Given the description of an element on the screen output the (x, y) to click on. 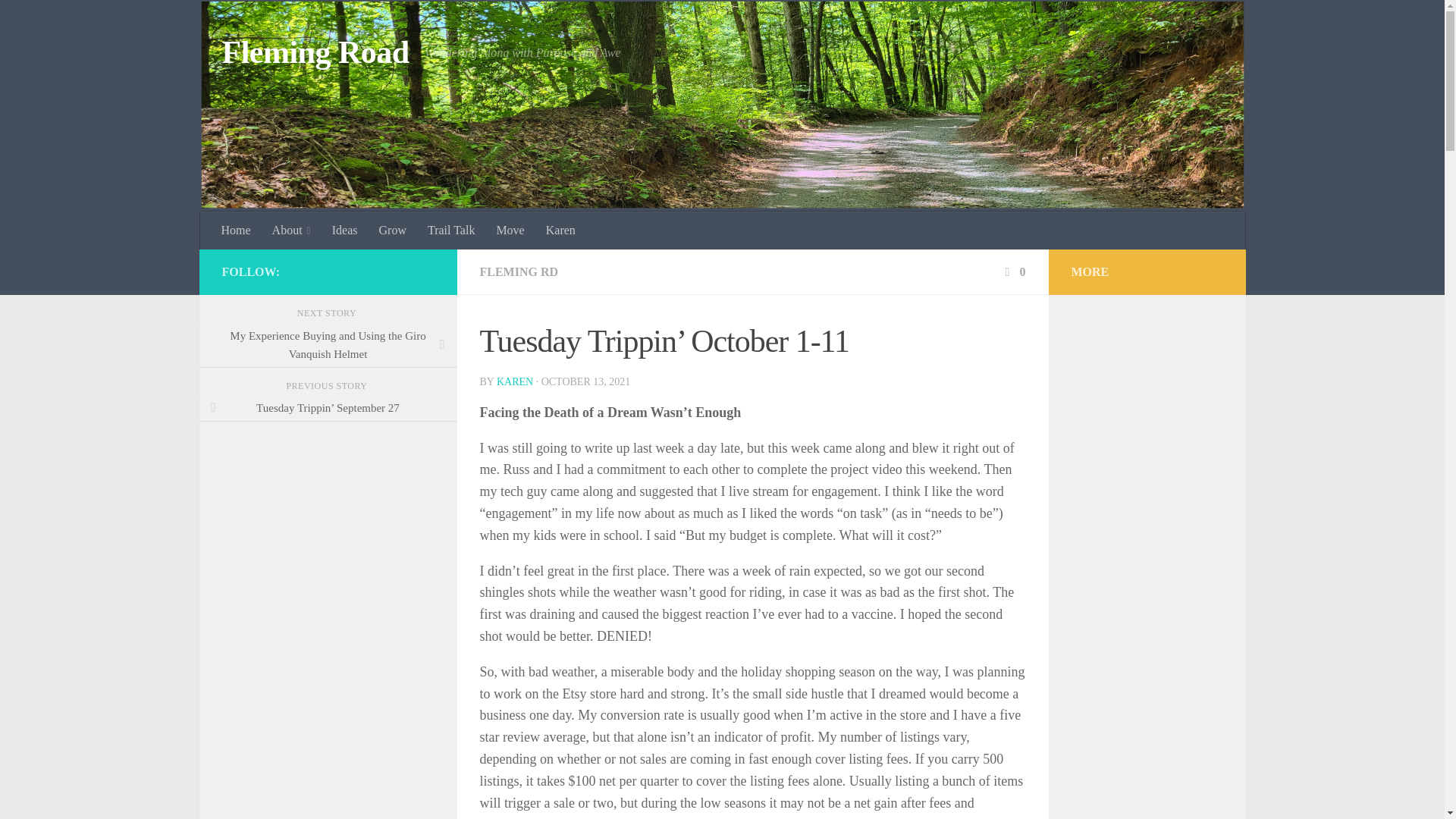
About (291, 230)
Fleming Road (315, 53)
Posts by karen (514, 381)
FLEMING RD (518, 271)
Grow (392, 230)
Ideas (344, 230)
Trail Talk (450, 230)
Skip to content (59, 20)
KAREN (514, 381)
Move (509, 230)
